Given the description of an element on the screen output the (x, y) to click on. 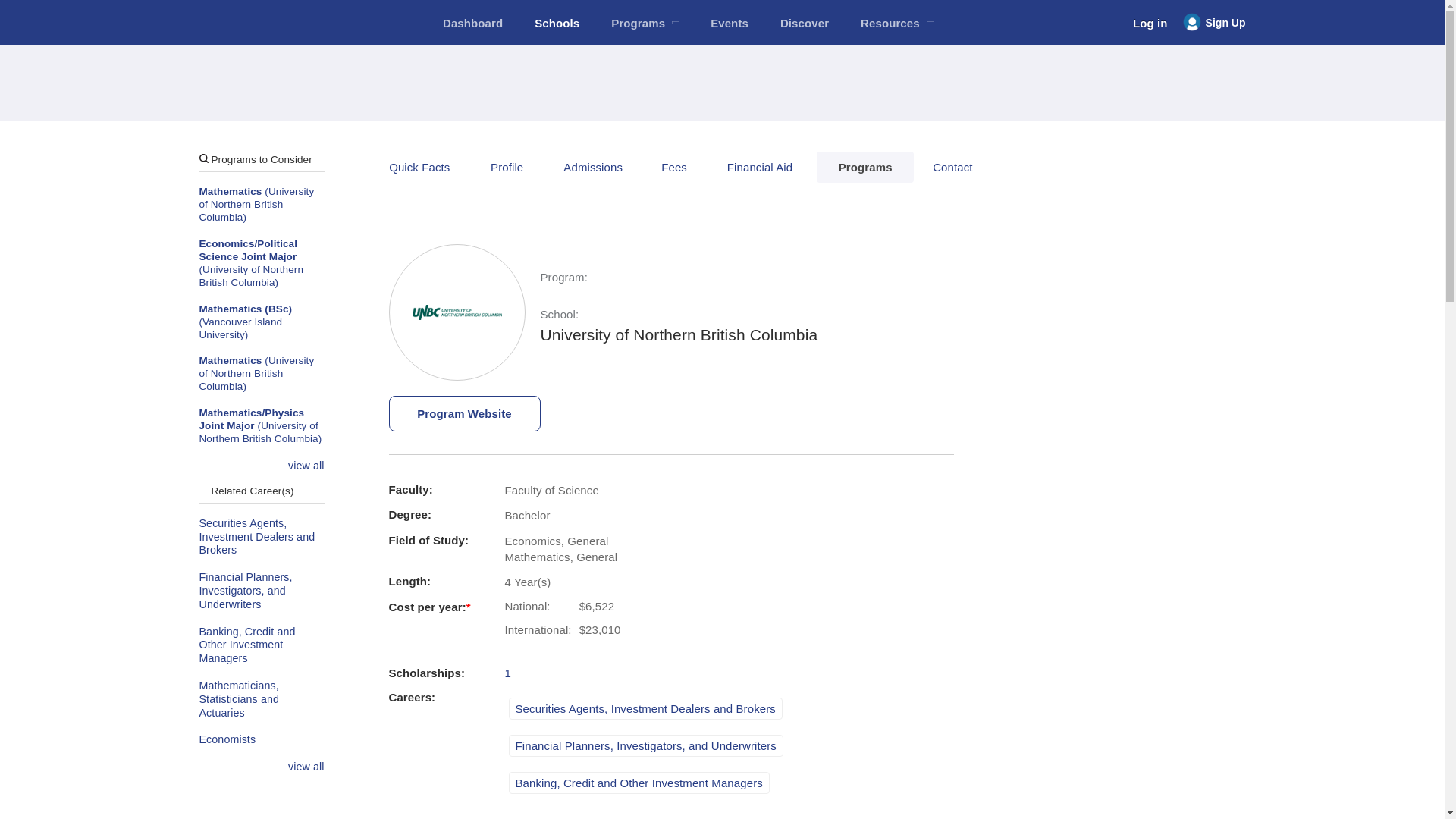
Programs (644, 22)
Financial Planners, Investigators, and Underwriters (260, 590)
Dashboard (472, 22)
Discover (804, 22)
Economists (260, 739)
view all (306, 466)
Mathematicians, Statisticians and Actuaries (260, 699)
view all (306, 766)
Discover (804, 22)
Sign Up (1213, 22)
Quick Facts (419, 166)
Banking, Credit and Other Investment Managers (260, 645)
Schools (556, 22)
Securities Agents, Investment Dealers and Brokers (260, 536)
Resources (896, 22)
